Given the description of an element on the screen output the (x, y) to click on. 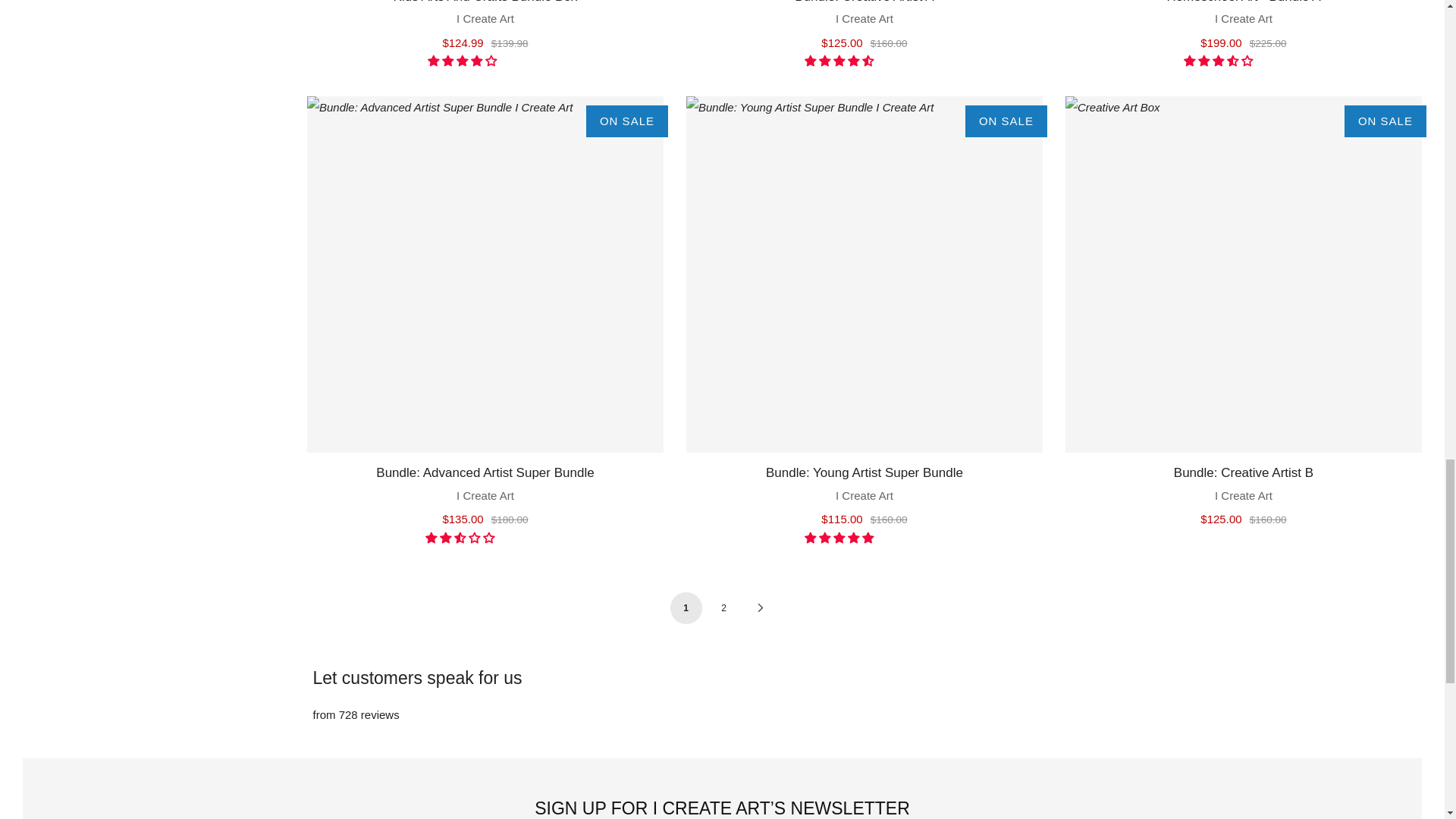
Bundle: Advanced Artist Super Bundle (485, 493)
Bundle: Young Artist Super Bundle (863, 274)
Kids Arts And Crafts Bundle Box (485, 24)
Bundle: Creative Artist A (863, 24)
Bundle: Young Artist Super Bundle (863, 493)
Bundle: Creative Artist B (1243, 274)
Homeschool Art - Bundle A (1243, 24)
Bundle: Creative Artist B (1243, 493)
Bundle: Advanced Artist Super Bundle (485, 274)
